Given the description of an element on the screen output the (x, y) to click on. 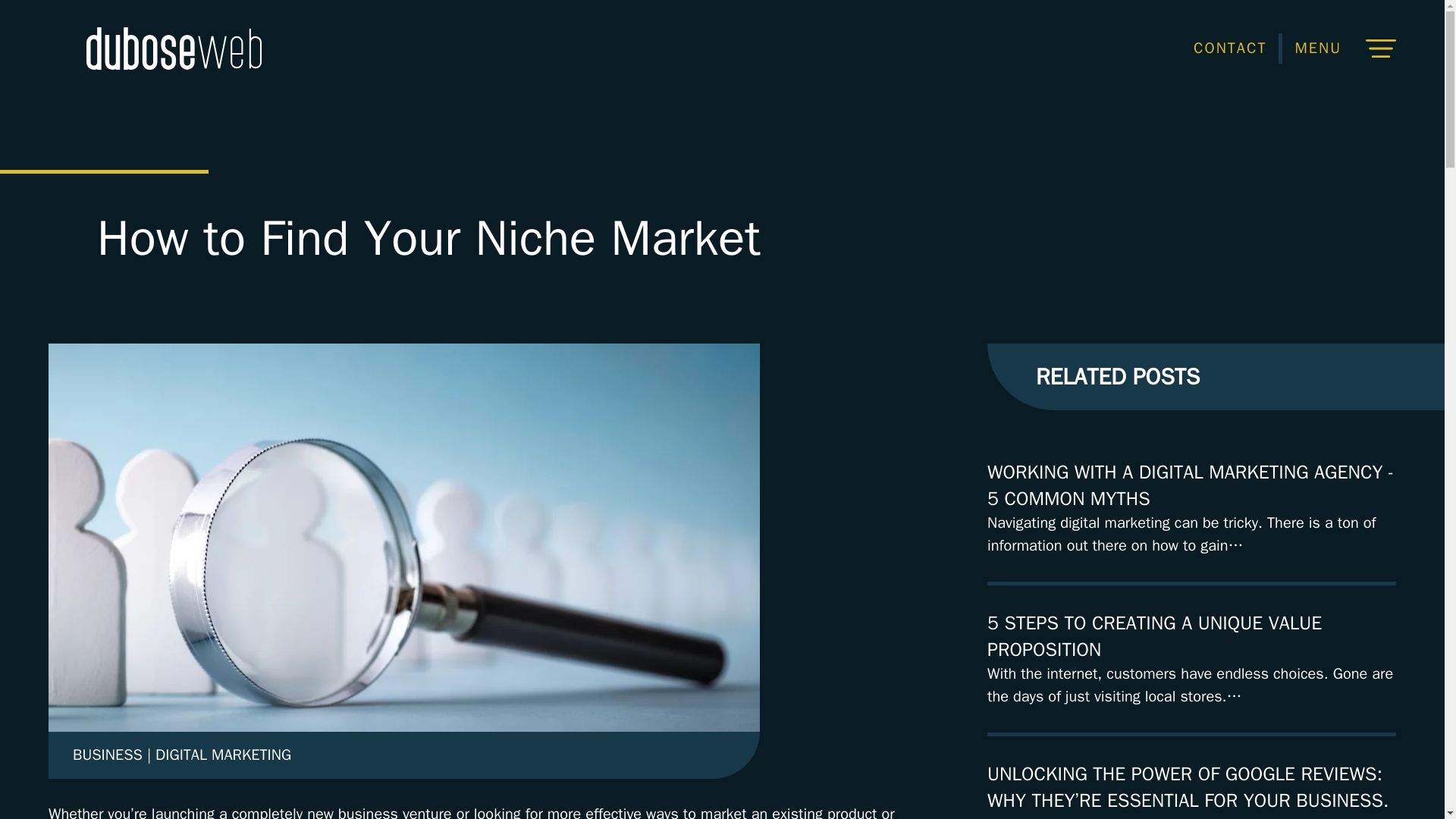
CONTACT (1229, 47)
5 STEPS TO CREATING A UNIQUE VALUE PROPOSITION (1154, 635)
WORKING WITH A DIGITAL MARKETING AGENCY - 5 COMMON MYTHS (1190, 485)
MENU (1342, 48)
